Given the description of an element on the screen output the (x, y) to click on. 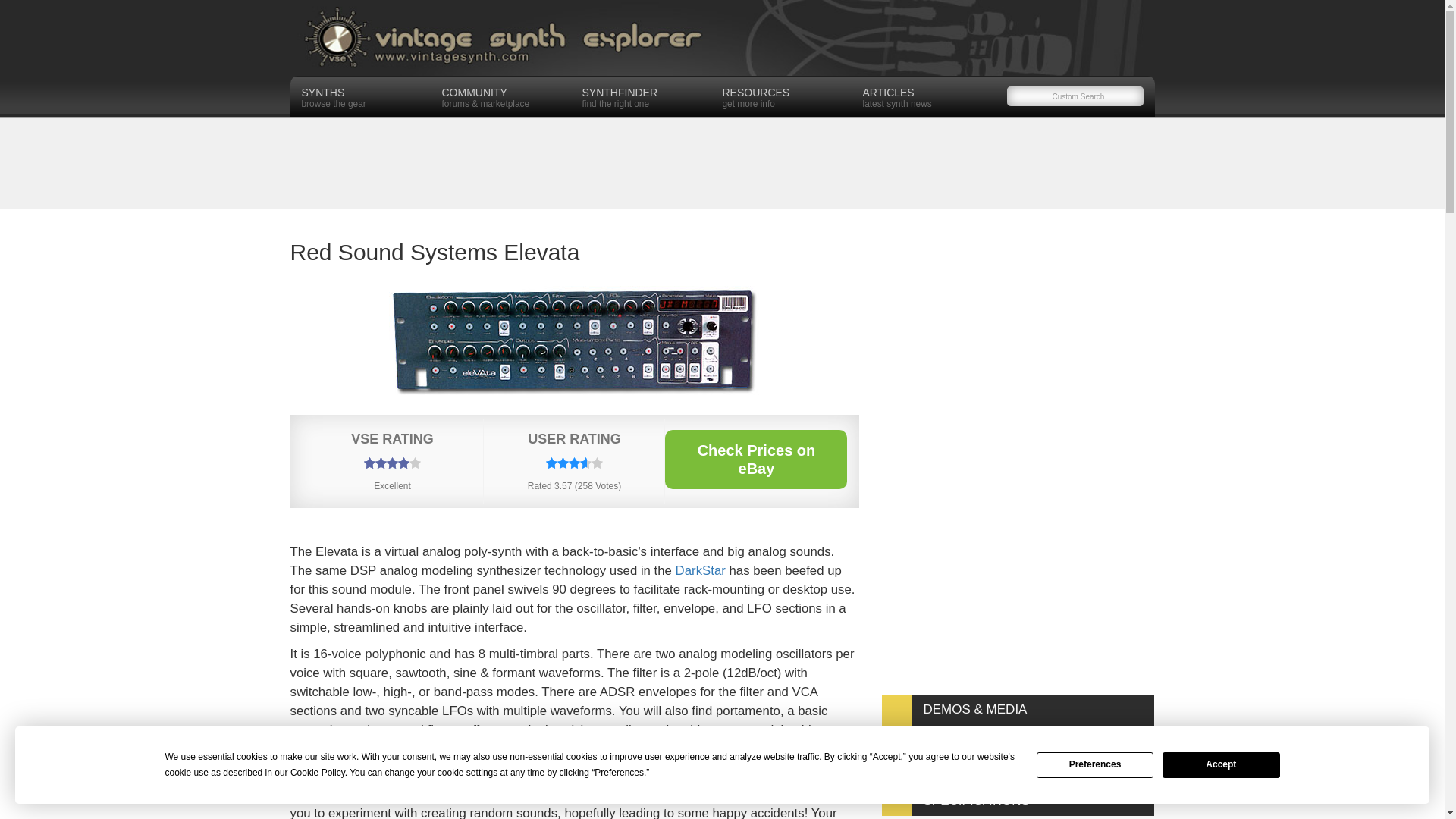
Preferences (925, 96)
Vintage Synth Explorer (1094, 765)
Search (721, 38)
DarkStar (29, 12)
Skip to main content (700, 570)
Check Prices on eBay (1220, 765)
